Given the description of an element on the screen output the (x, y) to click on. 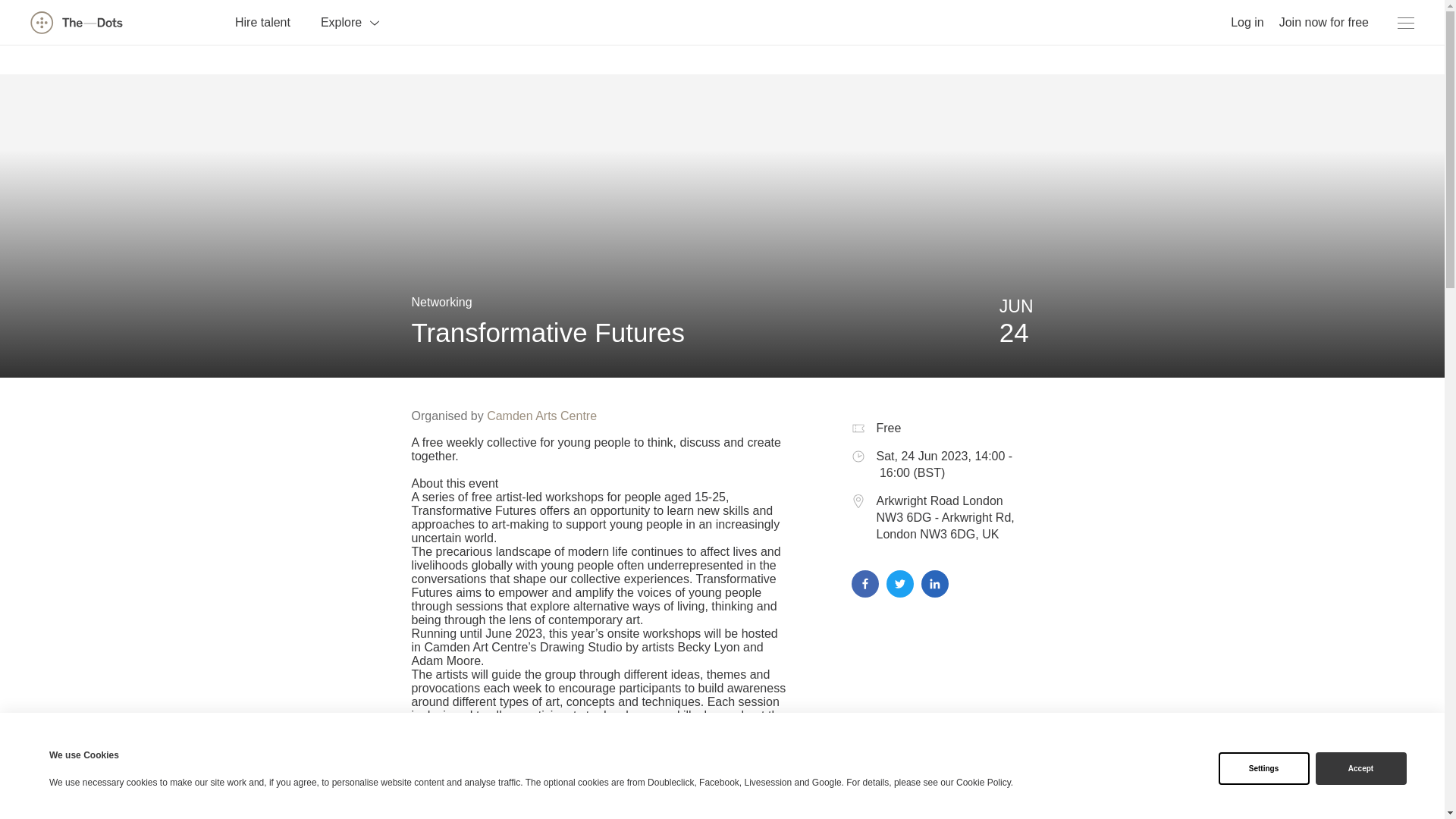
Time (857, 456)
Location (857, 500)
Camden Arts Centre (541, 415)
Hire talent (261, 21)
Join now for free (1323, 21)
Log in (1246, 21)
Transformative Futures (547, 332)
Explore (350, 21)
Ticket (857, 427)
